Given the description of an element on the screen output the (x, y) to click on. 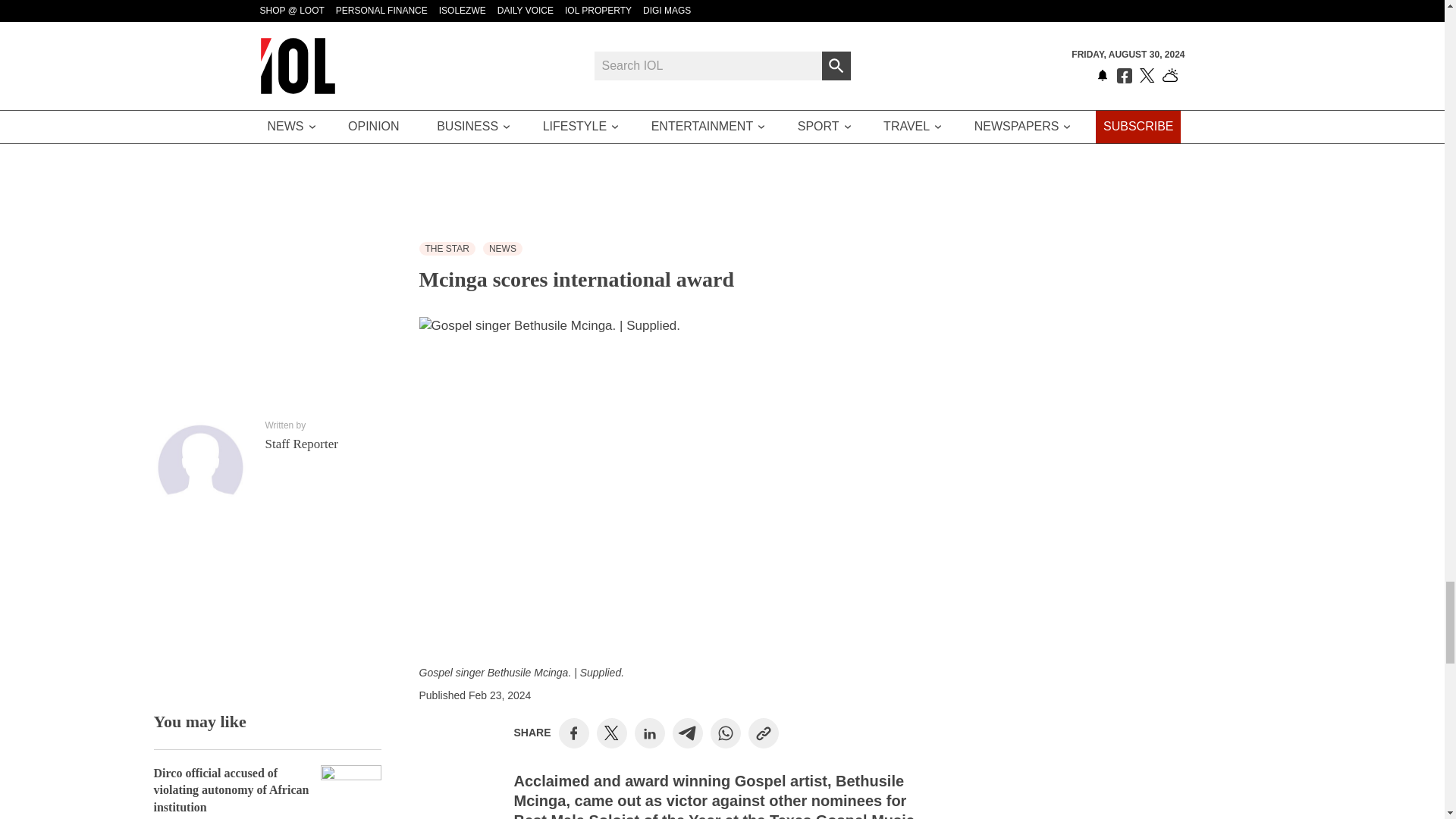
Share on Twitter (611, 733)
Copy to Clipboard (763, 733)
Share on WhatsApp (725, 733)
Share on Telegram (686, 733)
Share on Facebook (573, 733)
Share on LinkedIn (648, 733)
